Given the description of an element on the screen output the (x, y) to click on. 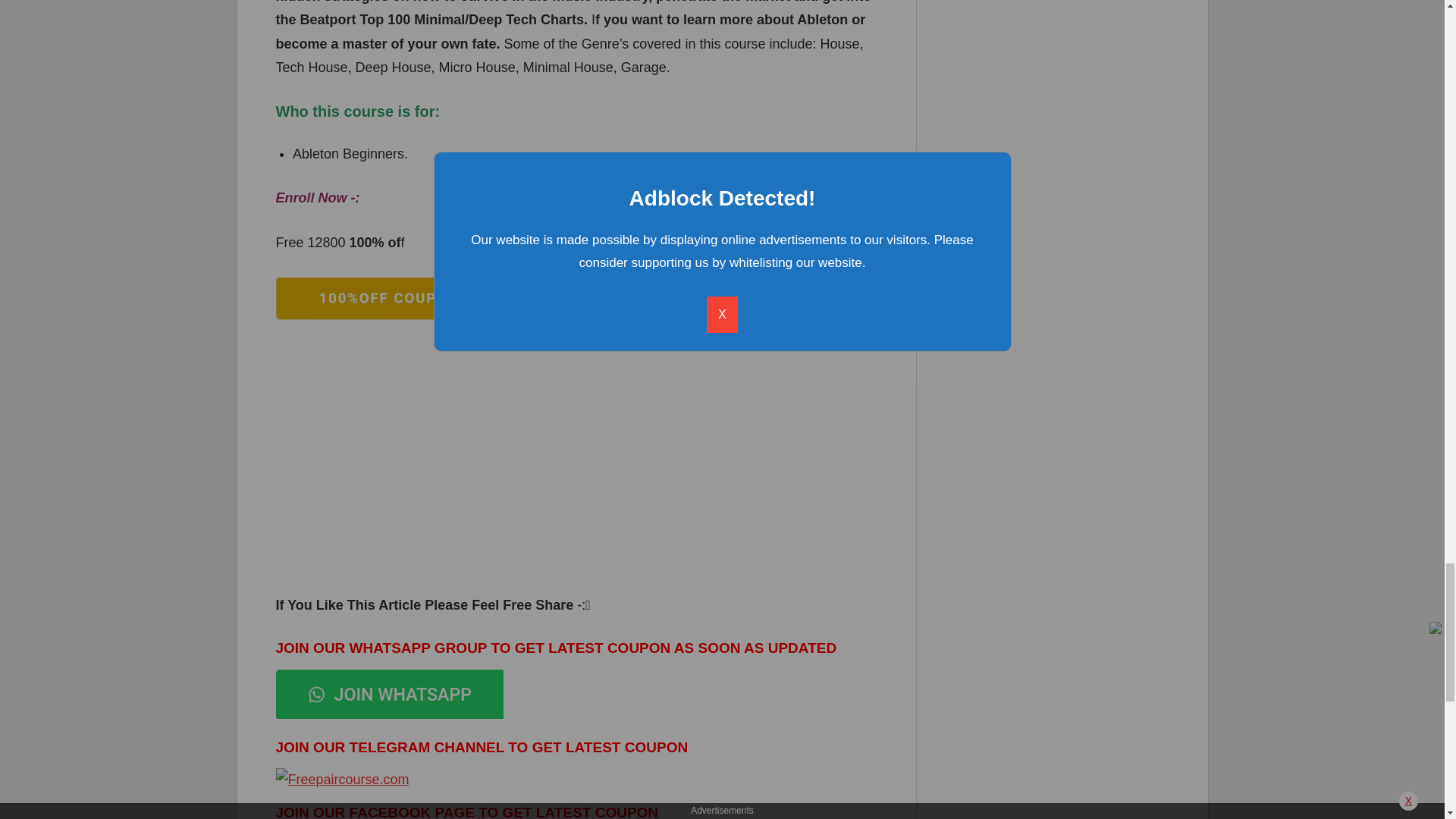
Ableton - How To Create MIDI, Samples, Audio And More 4 (342, 780)
Ableton - How To Create MIDI, Samples, Audio And More 3 (389, 694)
Ableton - How To Create MIDI, Samples, Audio And More 2 (389, 298)
